Given the description of an element on the screen output the (x, y) to click on. 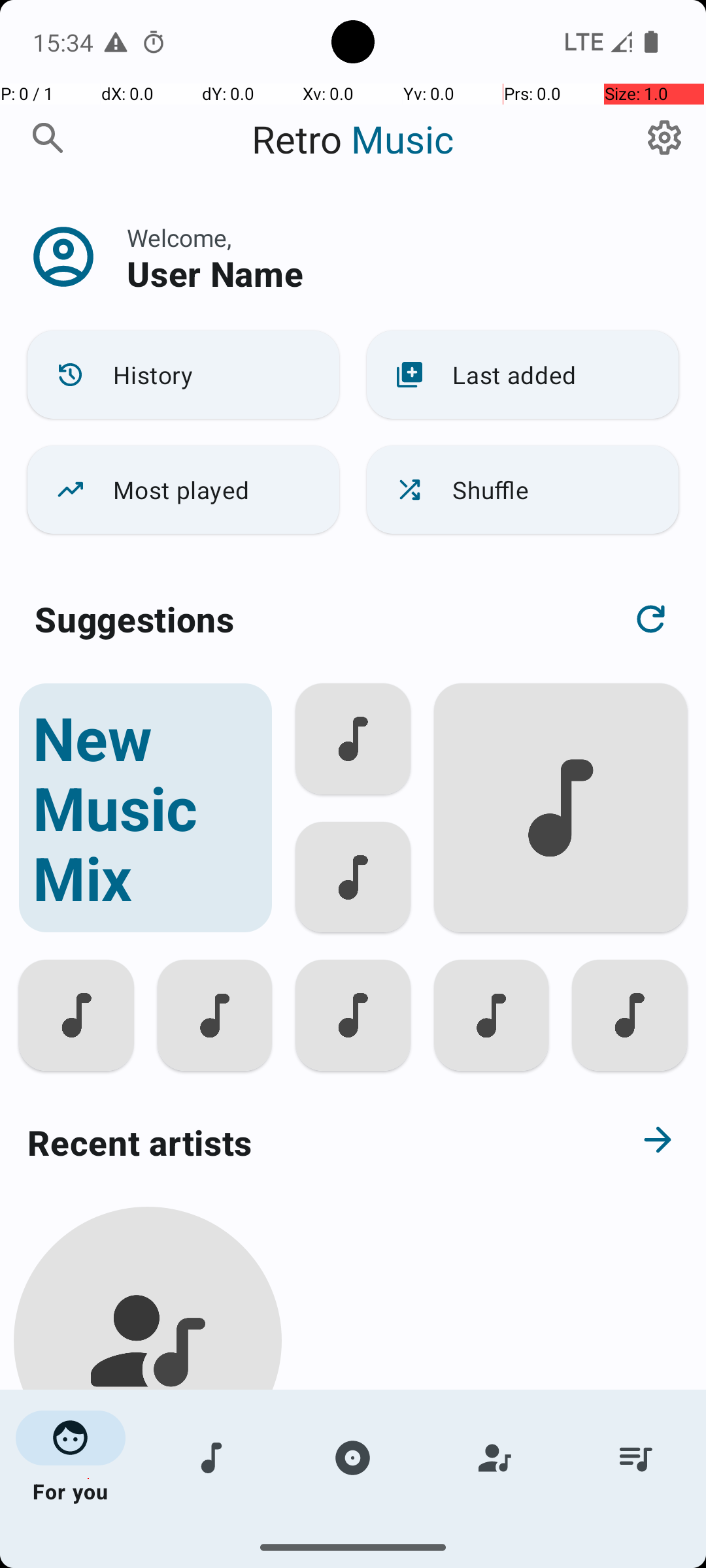
Ibrahim Element type: android.widget.TextView (147, 1503)
